Given the description of an element on the screen output the (x, y) to click on. 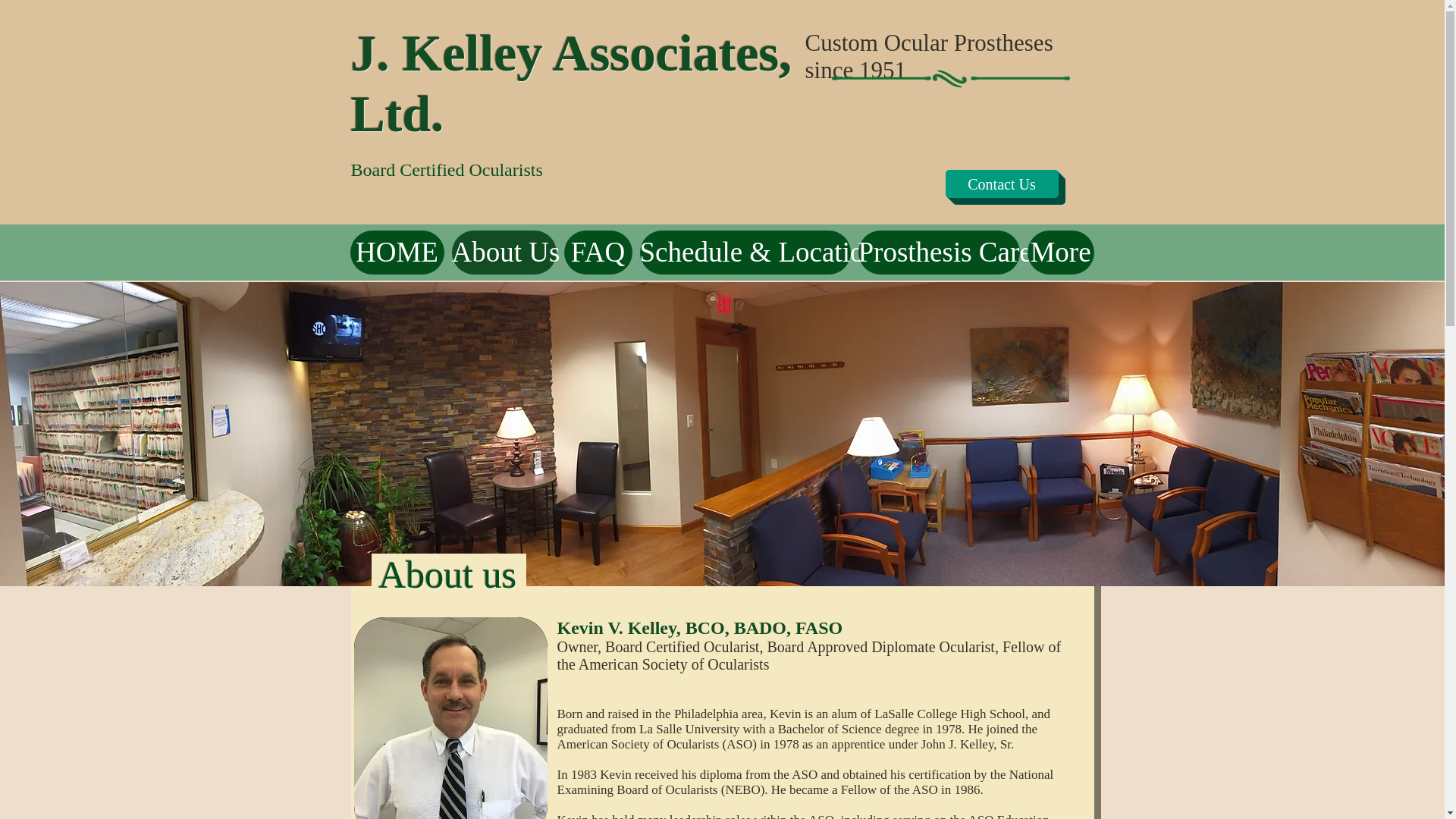
About Us (503, 252)
HOME (397, 252)
Custom Ocular Prostheses since 1951 (928, 56)
FAQ (597, 252)
J. Kelley Associates, Ltd. (571, 82)
Prosthesis Care (939, 252)
Contact Us (1001, 183)
